Given the description of an element on the screen output the (x, y) to click on. 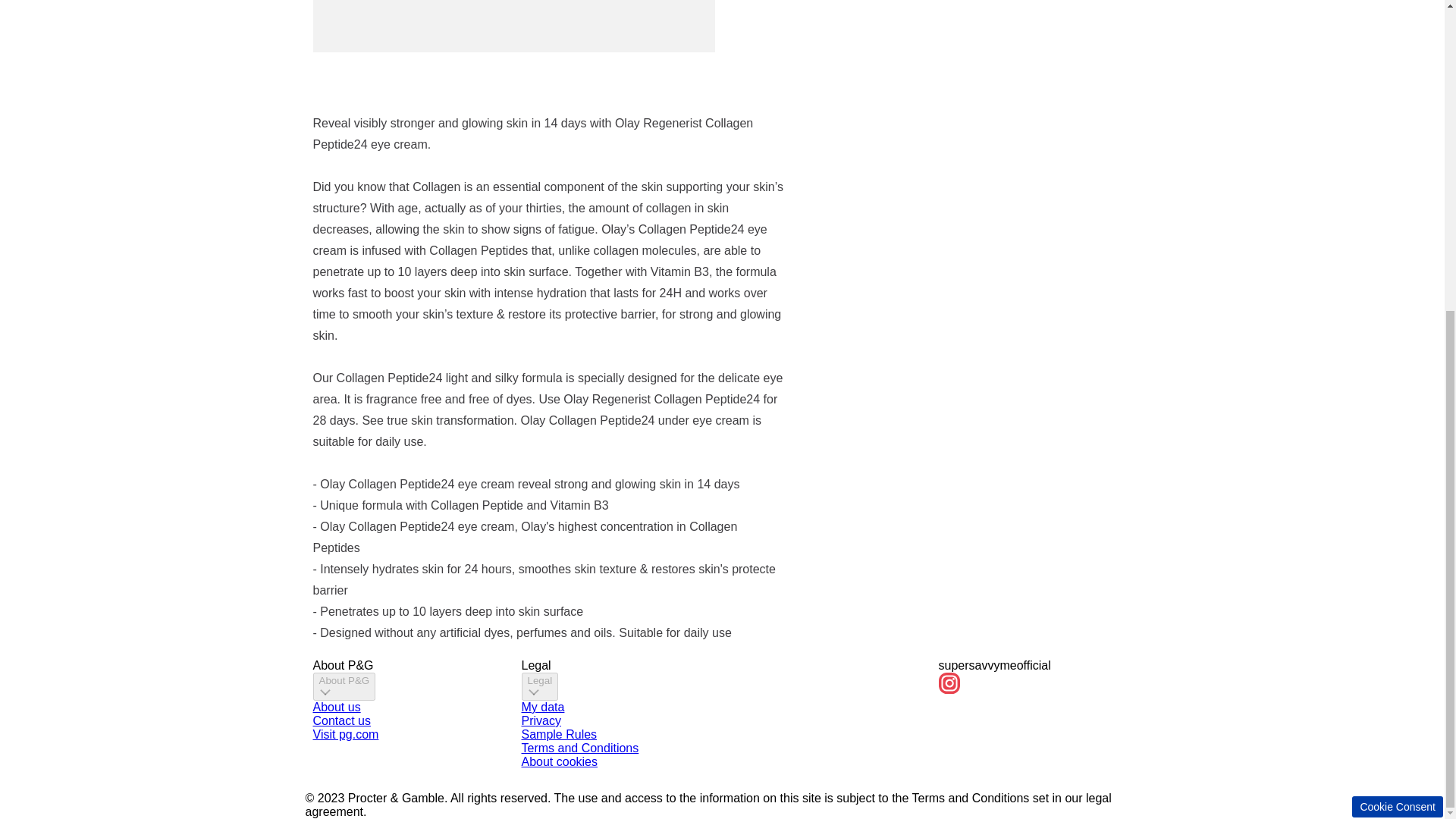
Contact us (341, 720)
Privacy (540, 720)
My data (542, 707)
